Given the description of an element on the screen output the (x, y) to click on. 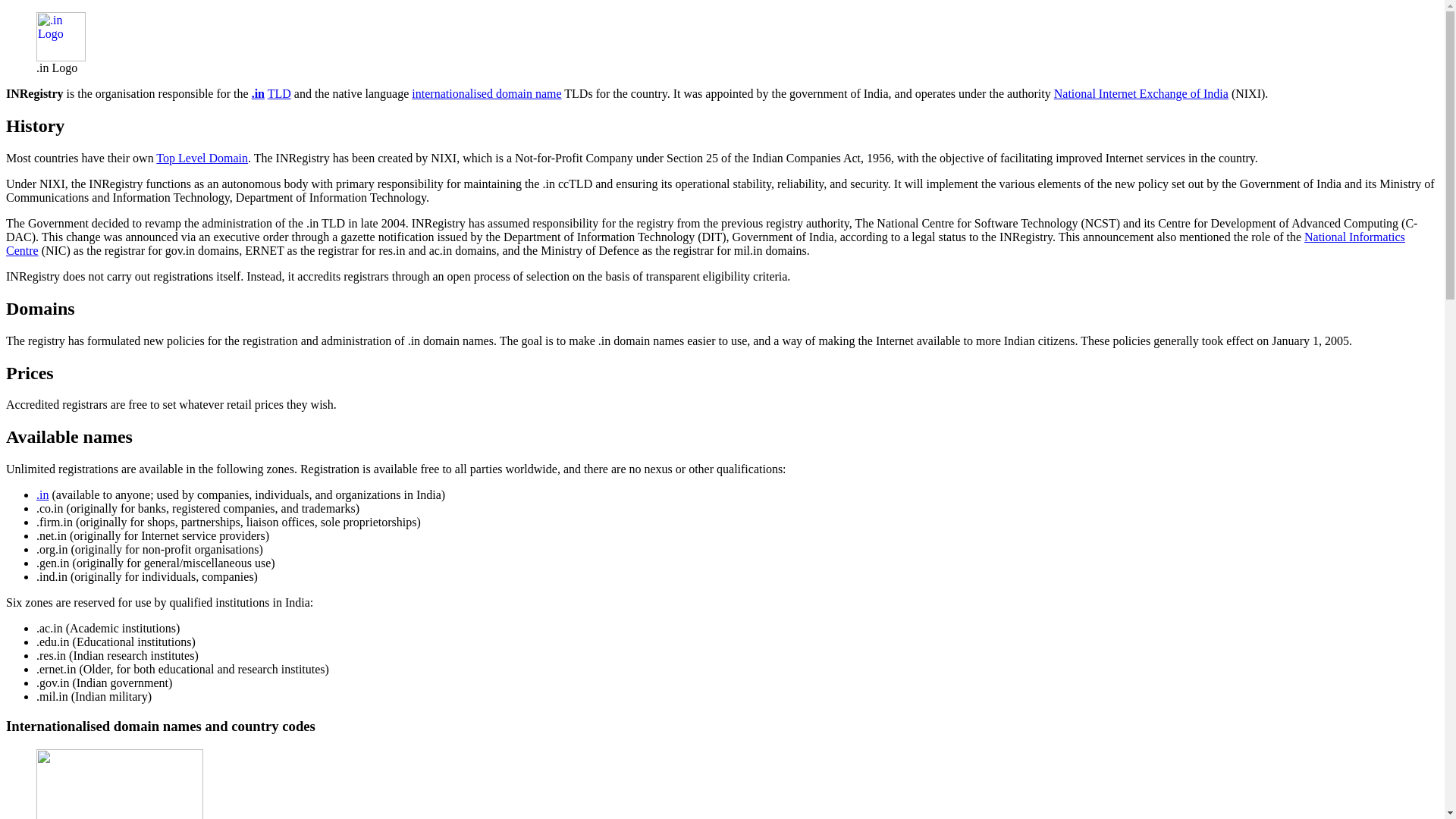
TLD (279, 92)
.in (257, 92)
.in (42, 494)
internationalised domain name (486, 92)
.in Logo (60, 56)
National Informatics Centre (705, 243)
Top Level Domain (201, 157)
National Internet Exchange of India (1141, 92)
Internationalised domain name (486, 92)
National Informatics Centre (705, 243)
